Given the description of an element on the screen output the (x, y) to click on. 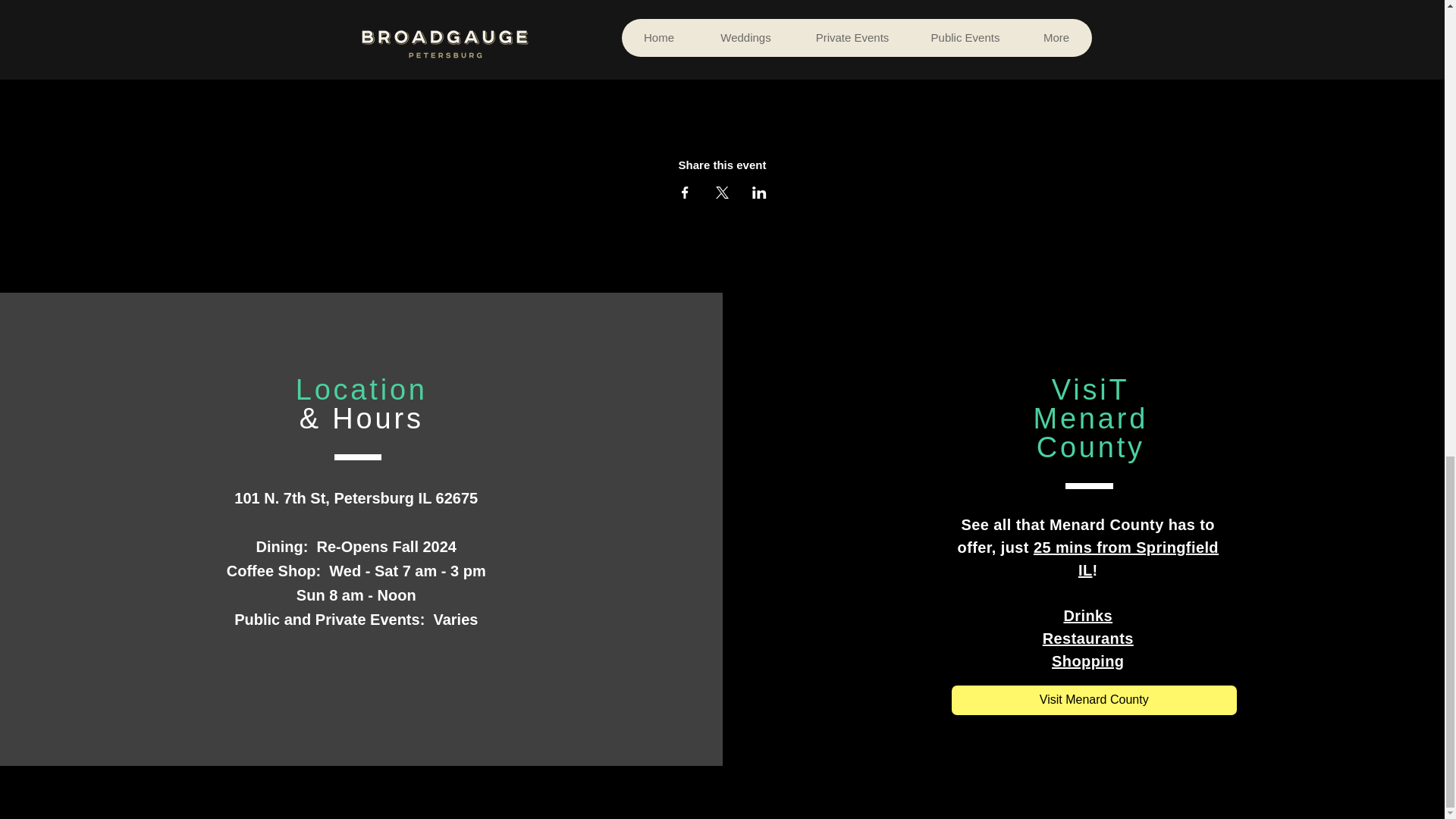
Visit Menard County (1094, 699)
Restaurants (1088, 638)
25 mins from Springfield IL (1125, 558)
Shopping (1087, 660)
Drinks (1087, 615)
